Given the description of an element on the screen output the (x, y) to click on. 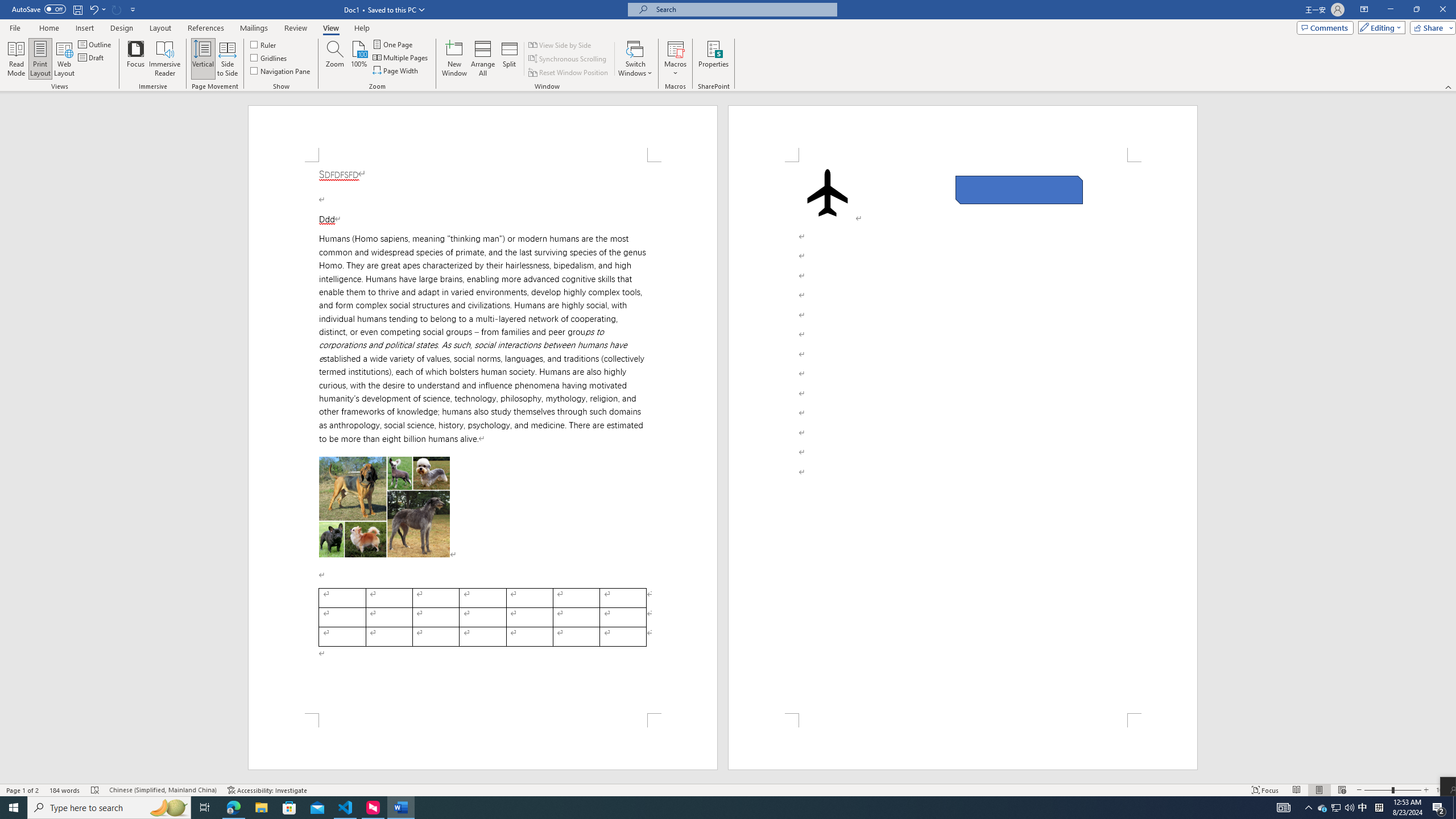
Save (77, 9)
Zoom... (334, 58)
